Given the description of an element on the screen output the (x, y) to click on. 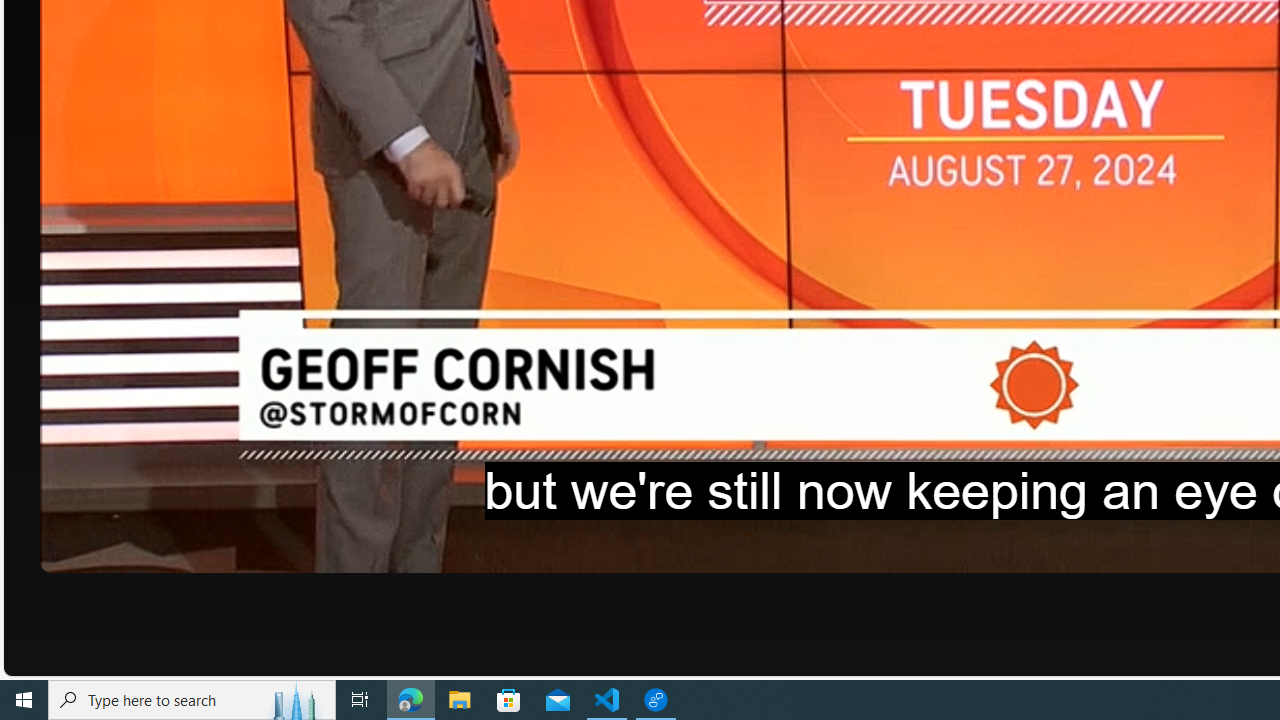
Pause (69, 550)
Seek Back (109, 550)
Seek Forward (150, 550)
